Given the description of an element on the screen output the (x, y) to click on. 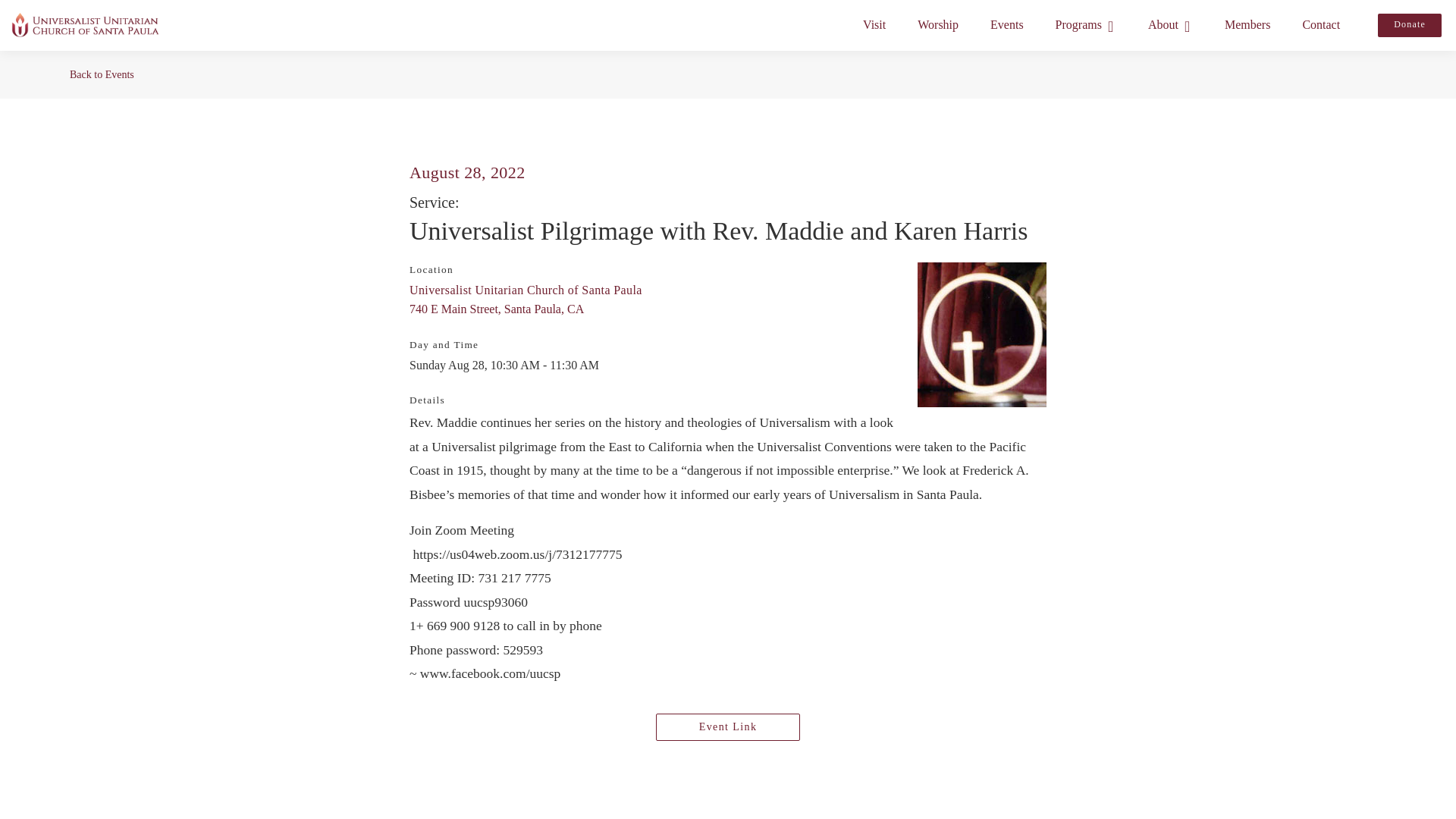
Programs (1085, 24)
Members (1247, 24)
Events (1007, 24)
Event Link (727, 727)
Contact (1320, 24)
Visit (873, 24)
About (1170, 24)
Back to Events (727, 74)
Donate (1409, 24)
Worship (938, 24)
